Given the description of an element on the screen output the (x, y) to click on. 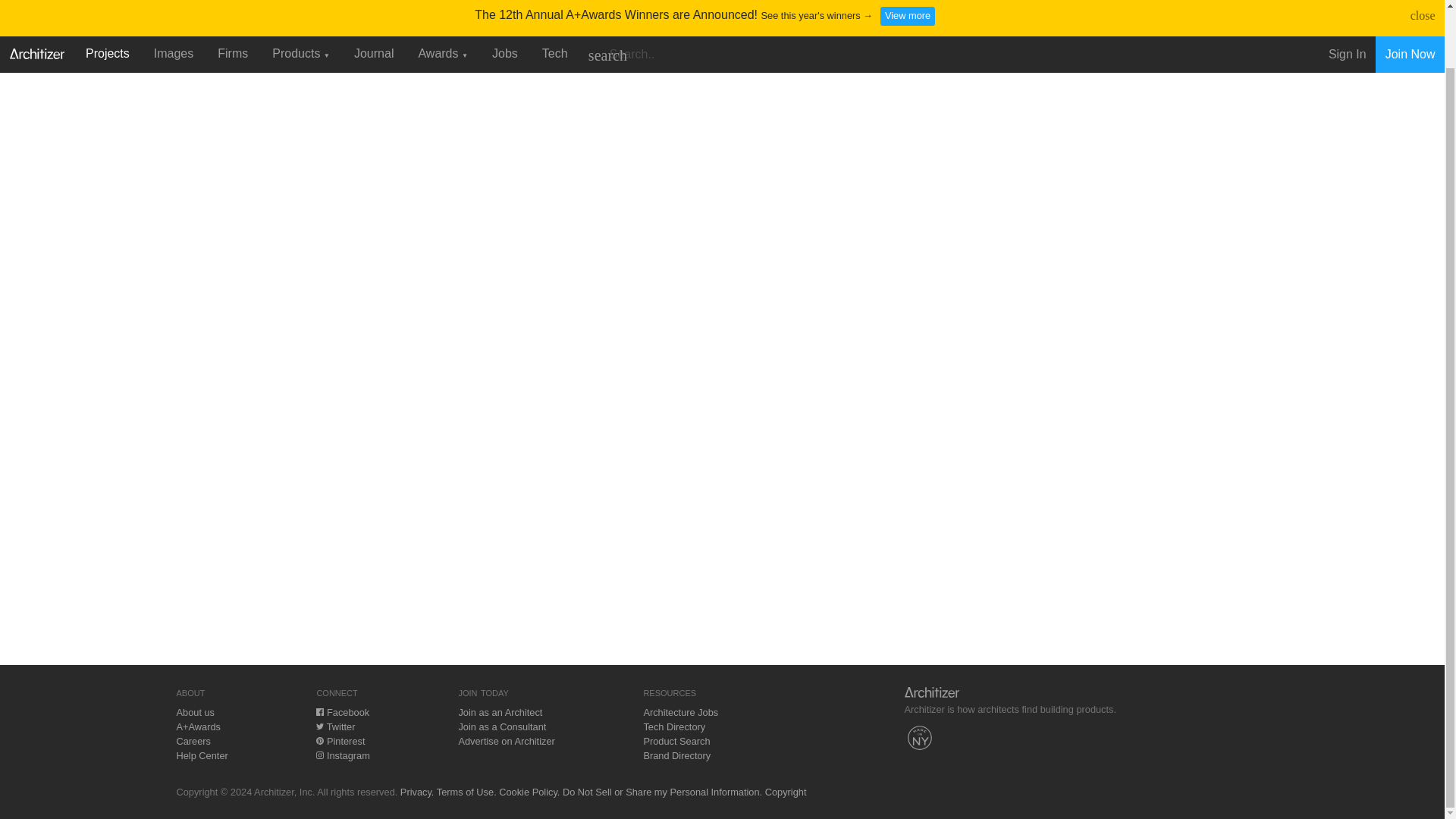
Instagram icon (319, 755)
Twitter (335, 726)
Twitter icon (319, 726)
Firms (232, 2)
Journal (374, 2)
Architecture Jobs (680, 712)
Product Search (676, 740)
search (606, 4)
About us (195, 712)
Facebook icon (319, 711)
